Given the description of an element on the screen output the (x, y) to click on. 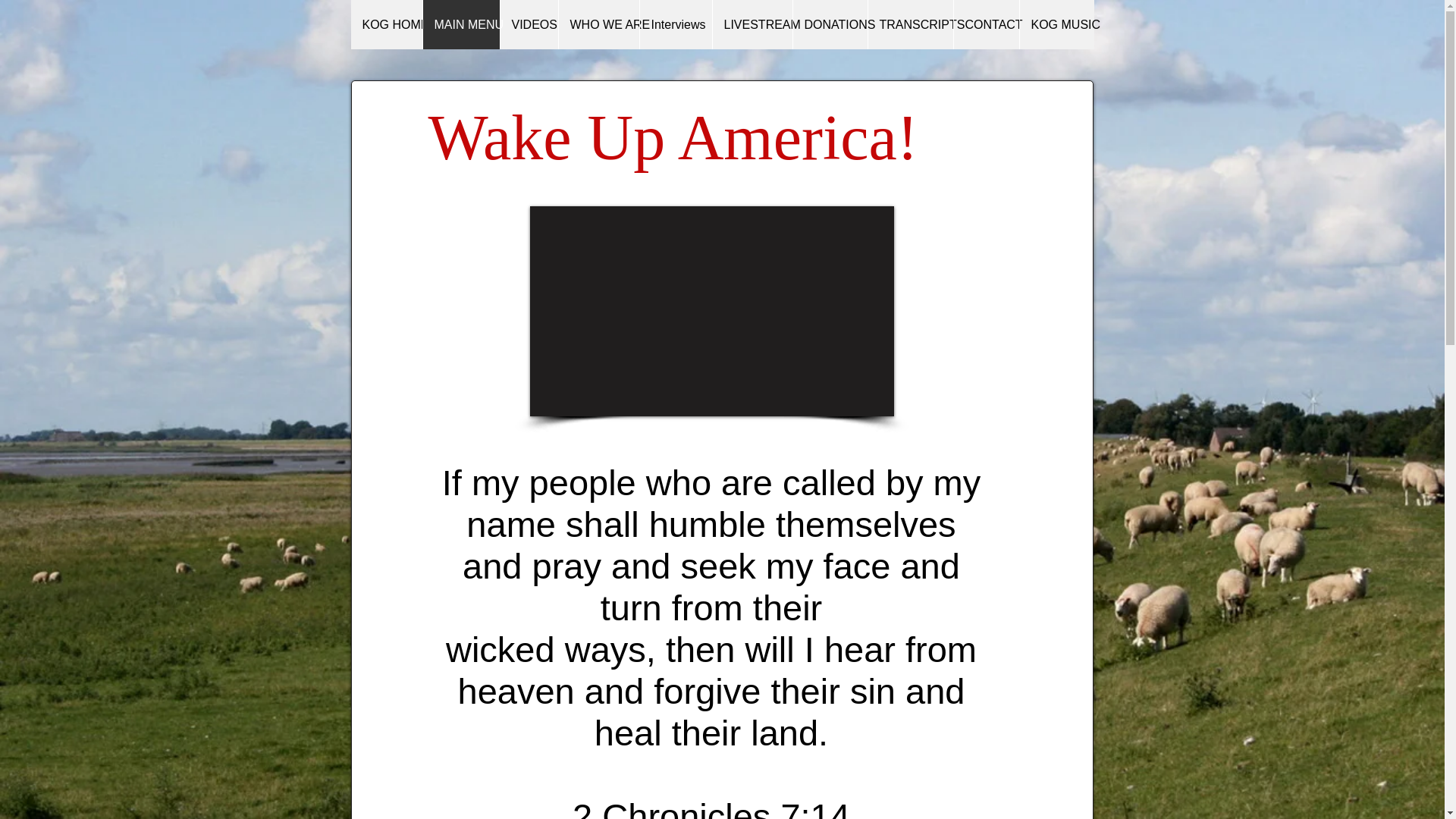
TRANSCRIPTS (910, 24)
VIDEOS (528, 24)
KOG MUSIC (1056, 24)
KOG HOME (386, 24)
Interviews (675, 24)
CONTACT (984, 24)
WHO WE ARE (598, 24)
DONATIONS (829, 24)
External YouTube (711, 311)
LIVESTREAM (751, 24)
